Given the description of an element on the screen output the (x, y) to click on. 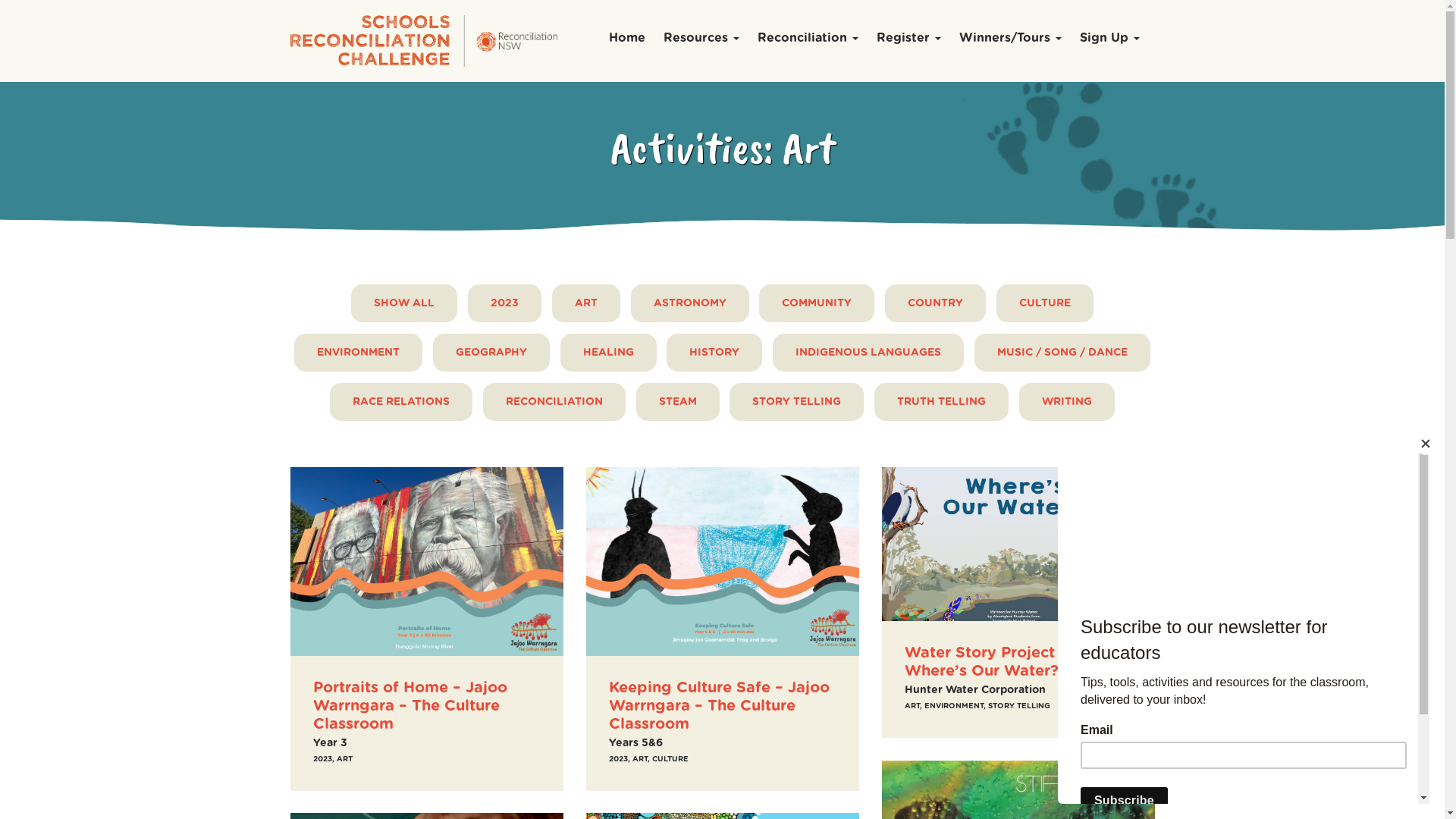
MUSIC / SONG / DANCE Element type: text (1062, 352)
2023 Element type: text (504, 303)
ASTRONOMY Element type: text (689, 303)
RACE RELATIONS Element type: text (400, 401)
INDIGENOUS LANGUAGES Element type: text (867, 352)
GEOGRAPHY Element type: text (491, 352)
TRUTH TELLING Element type: text (941, 401)
Winners/Tours Element type: text (1010, 38)
RECONCILIATION Element type: text (554, 401)
ENVIRONMENT Element type: text (358, 352)
CULTURE Element type: text (1044, 303)
ART Element type: text (586, 303)
SHOW ALL Element type: text (404, 303)
COUNTRY Element type: text (934, 303)
STORY TELLING Element type: text (796, 401)
STEAM Element type: text (677, 401)
HEALING Element type: text (608, 352)
COMMUNITY Element type: text (816, 303)
Resources Element type: text (701, 38)
Register Element type: text (908, 38)
HISTORY Element type: text (714, 352)
WRITING Element type: text (1066, 401)
Sign Up Element type: text (1109, 38)
Reconciliation Element type: text (807, 38)
Home Element type: text (626, 38)
